Given the description of an element on the screen output the (x, y) to click on. 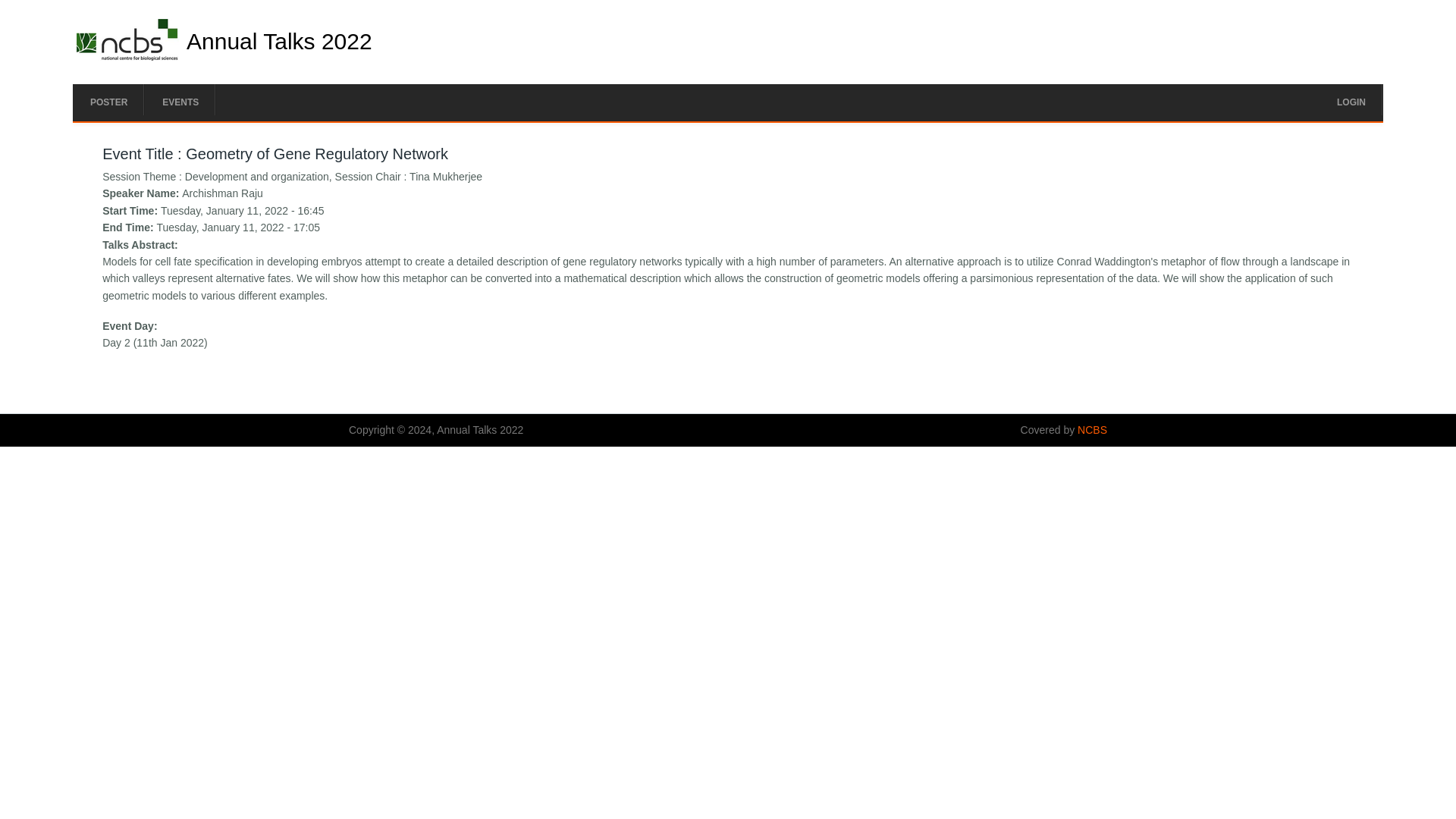
Home (128, 56)
LOGIN (1351, 102)
EVENTS (179, 102)
NCBS (1091, 429)
Home (279, 41)
Annual Talks 2022 (279, 41)
POSTER (108, 102)
